Given the description of an element on the screen output the (x, y) to click on. 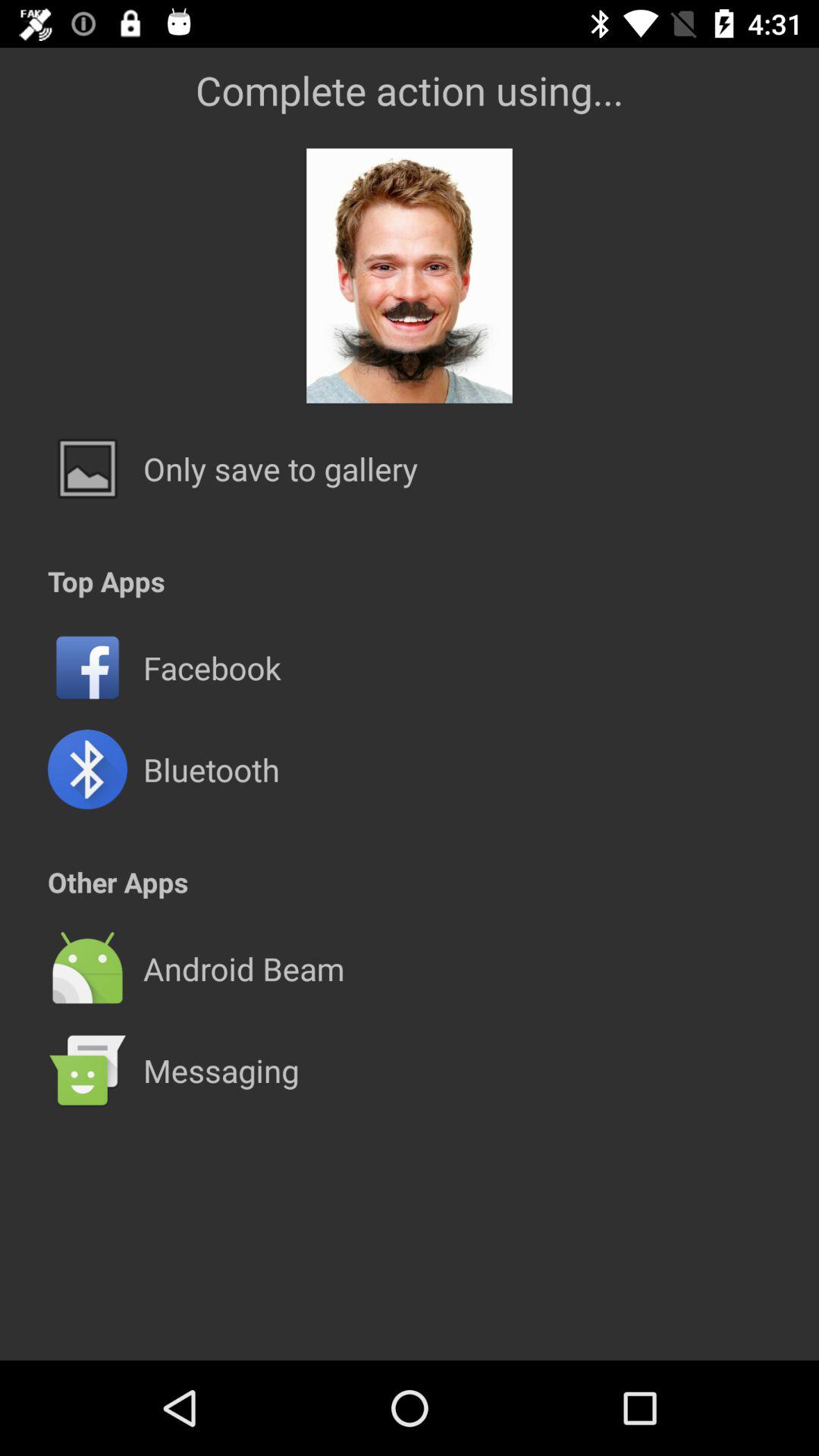
open the item above the other apps (211, 769)
